Given the description of an element on the screen output the (x, y) to click on. 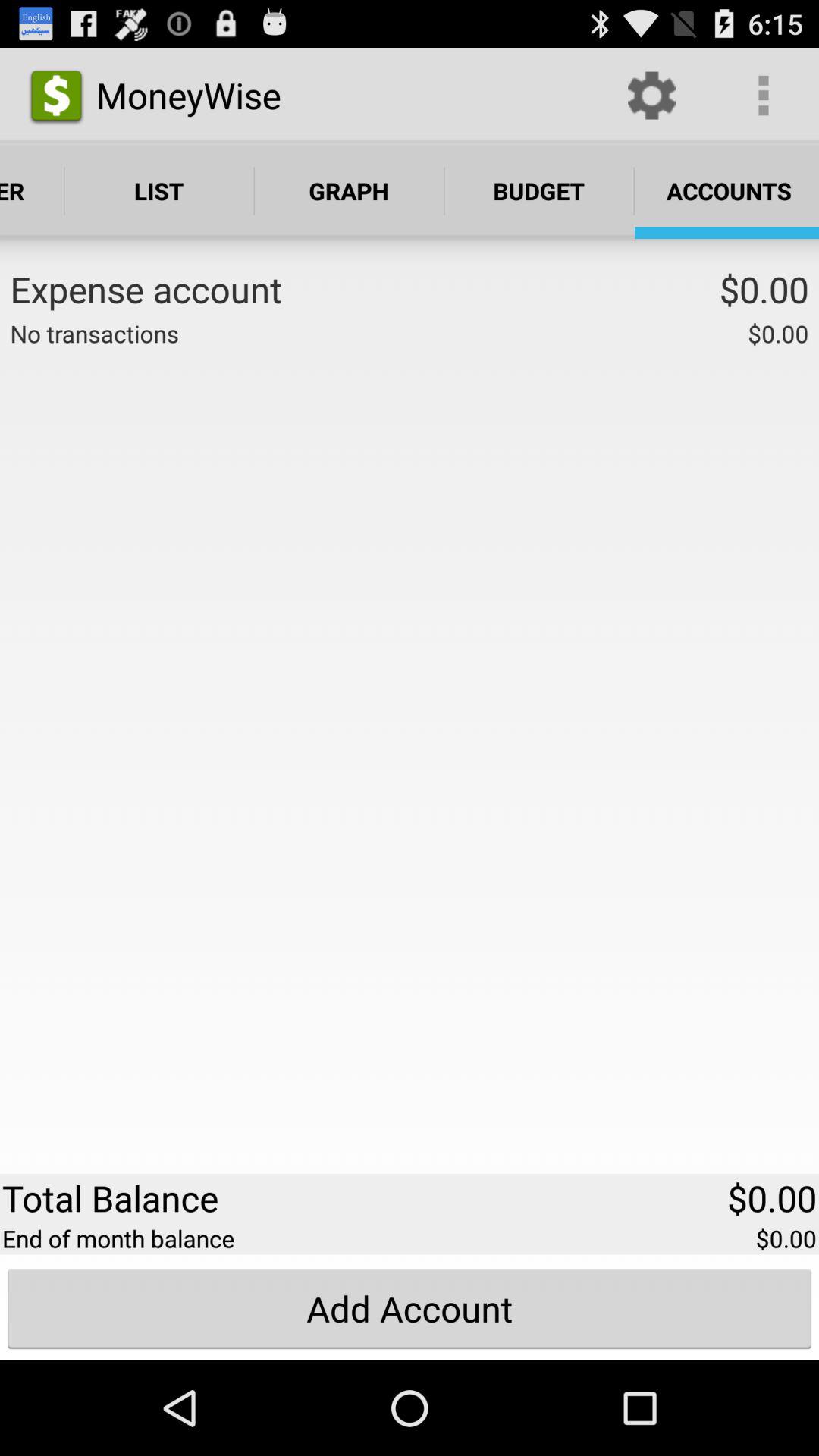
swipe until no transactions (94, 333)
